Given the description of an element on the screen output the (x, y) to click on. 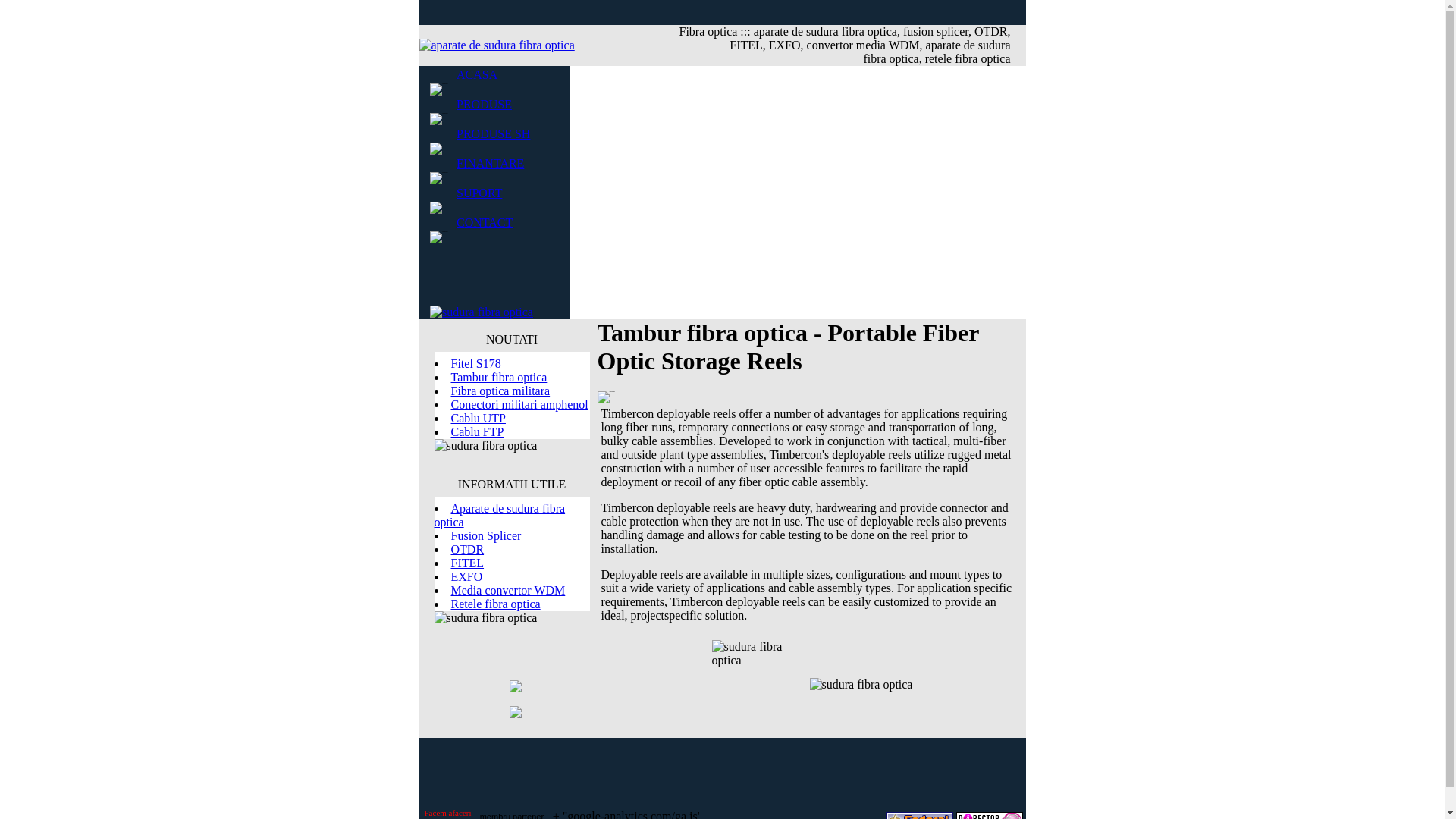
Fibra optica militara (499, 390)
PRODUSE SH (493, 133)
Clubafaceri.ro (448, 813)
sudura fibra optica (484, 221)
Cablu FTP (476, 431)
sudura fibra optica (493, 133)
SUPORT (479, 192)
FINANTARE (490, 162)
Advertisement (721, 771)
Aparate de sudura fibra optica (498, 515)
